Given the description of an element on the screen output the (x, y) to click on. 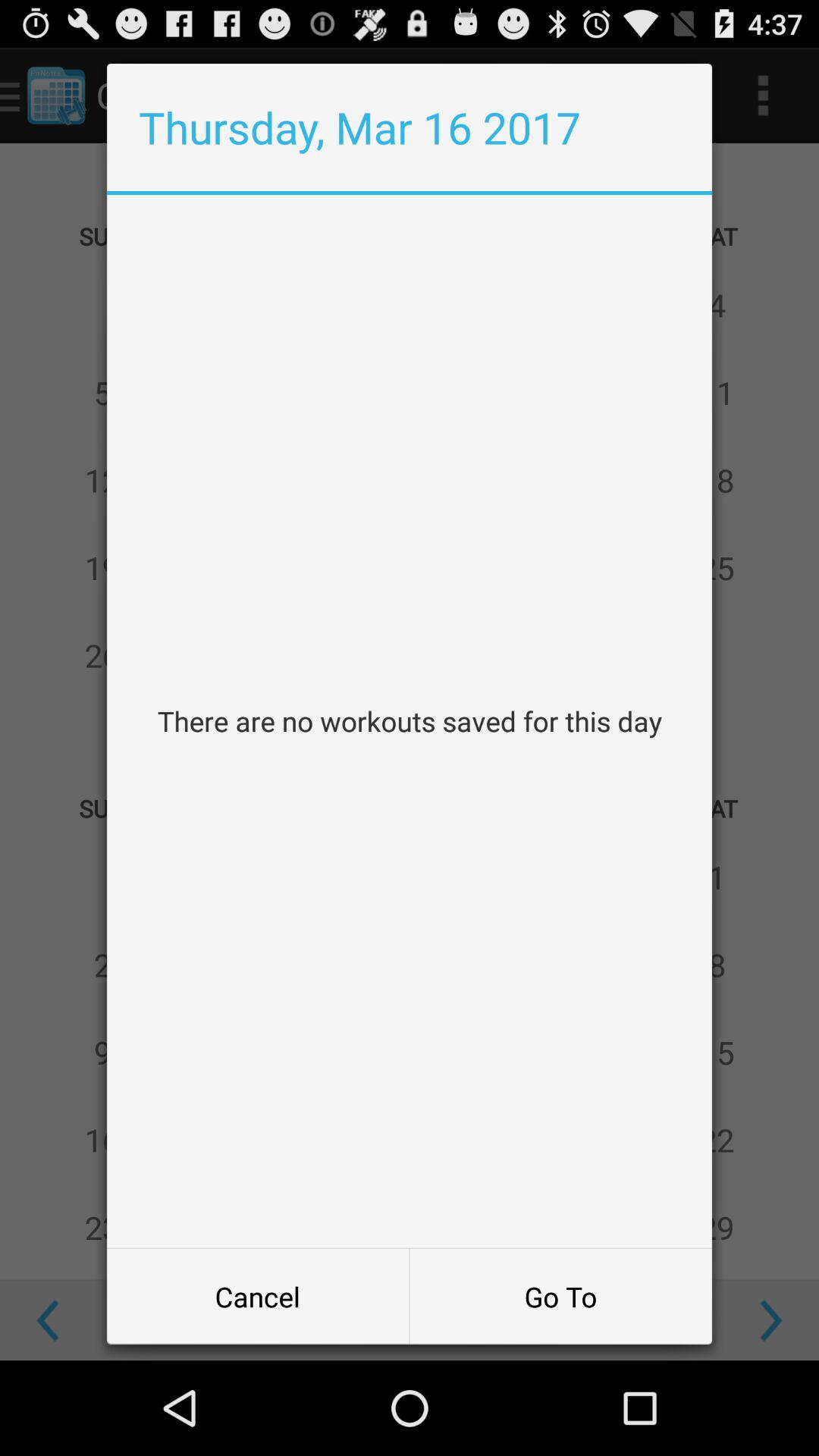
press the go to button (561, 1296)
